Given the description of an element on the screen output the (x, y) to click on. 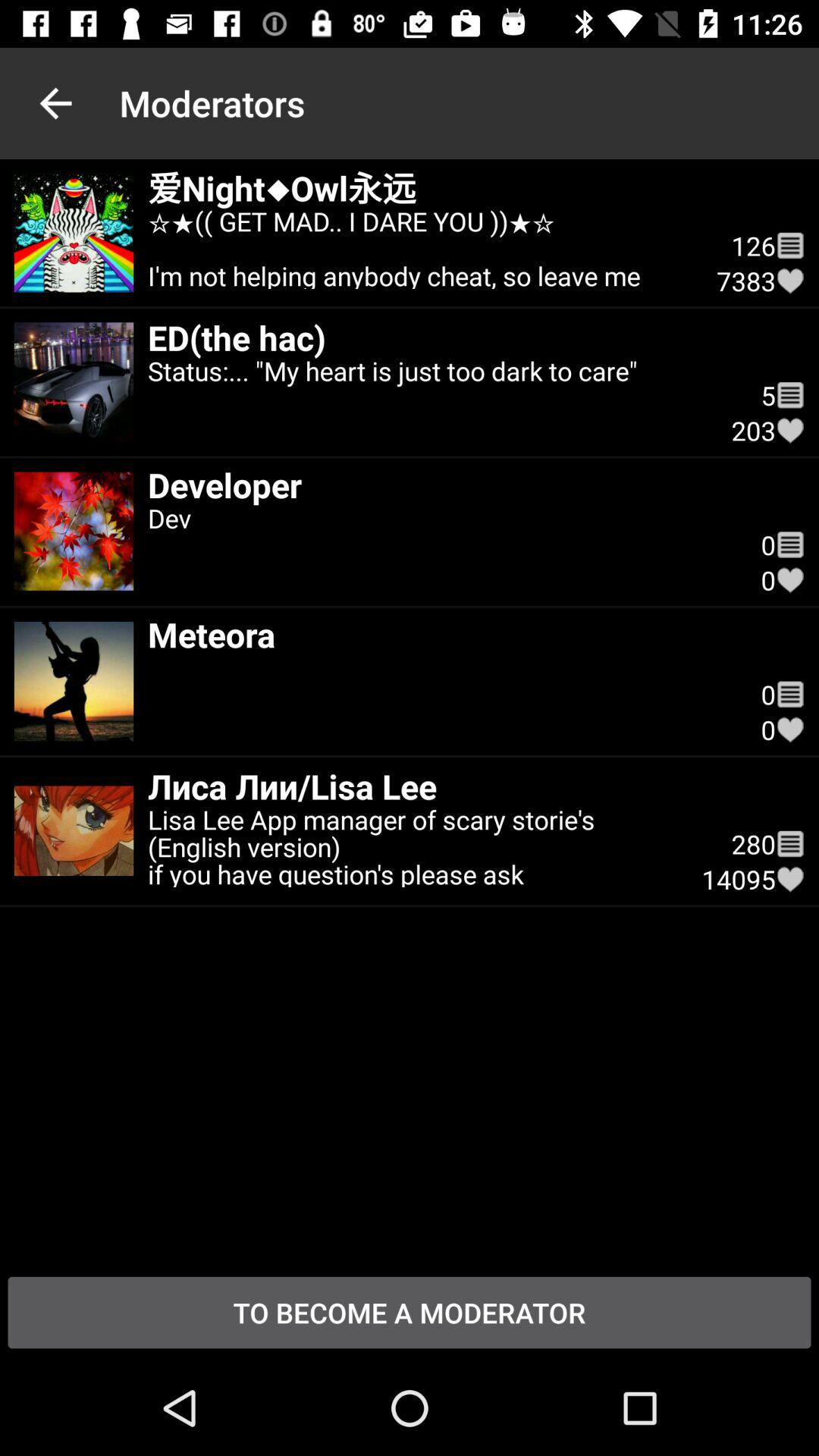
launch icon above 203 (789, 395)
